Given the description of an element on the screen output the (x, y) to click on. 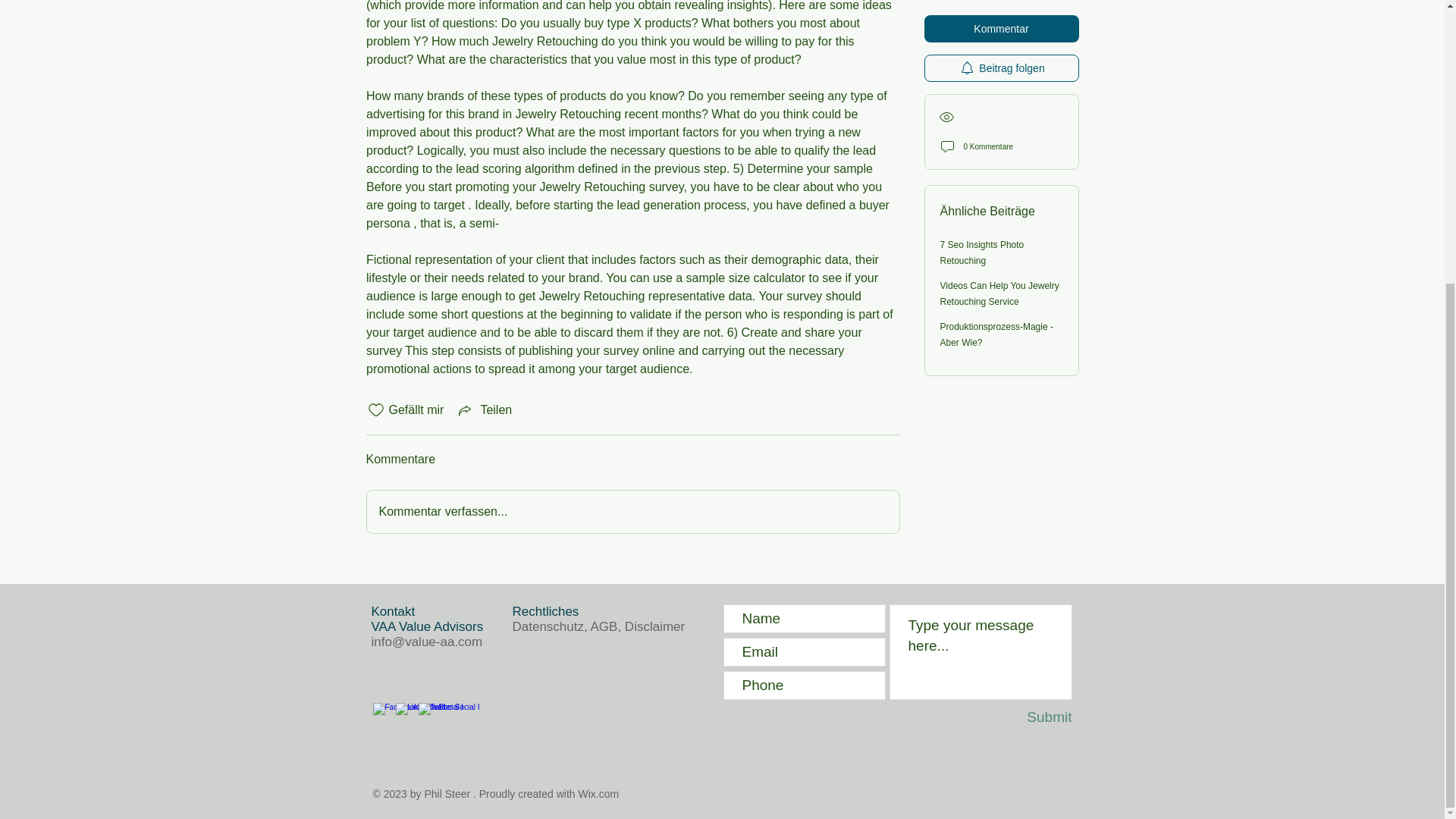
7 Seo Insights Photo Retouching (982, 72)
Wix.com (599, 793)
Produktionsprozess-Magie - Aber Wie? (996, 154)
Teilen (483, 410)
Videos Can Help You Jewelry Retouching Service (999, 113)
Submit (1029, 717)
Kommentar verfassen... (632, 511)
